Given the description of an element on the screen output the (x, y) to click on. 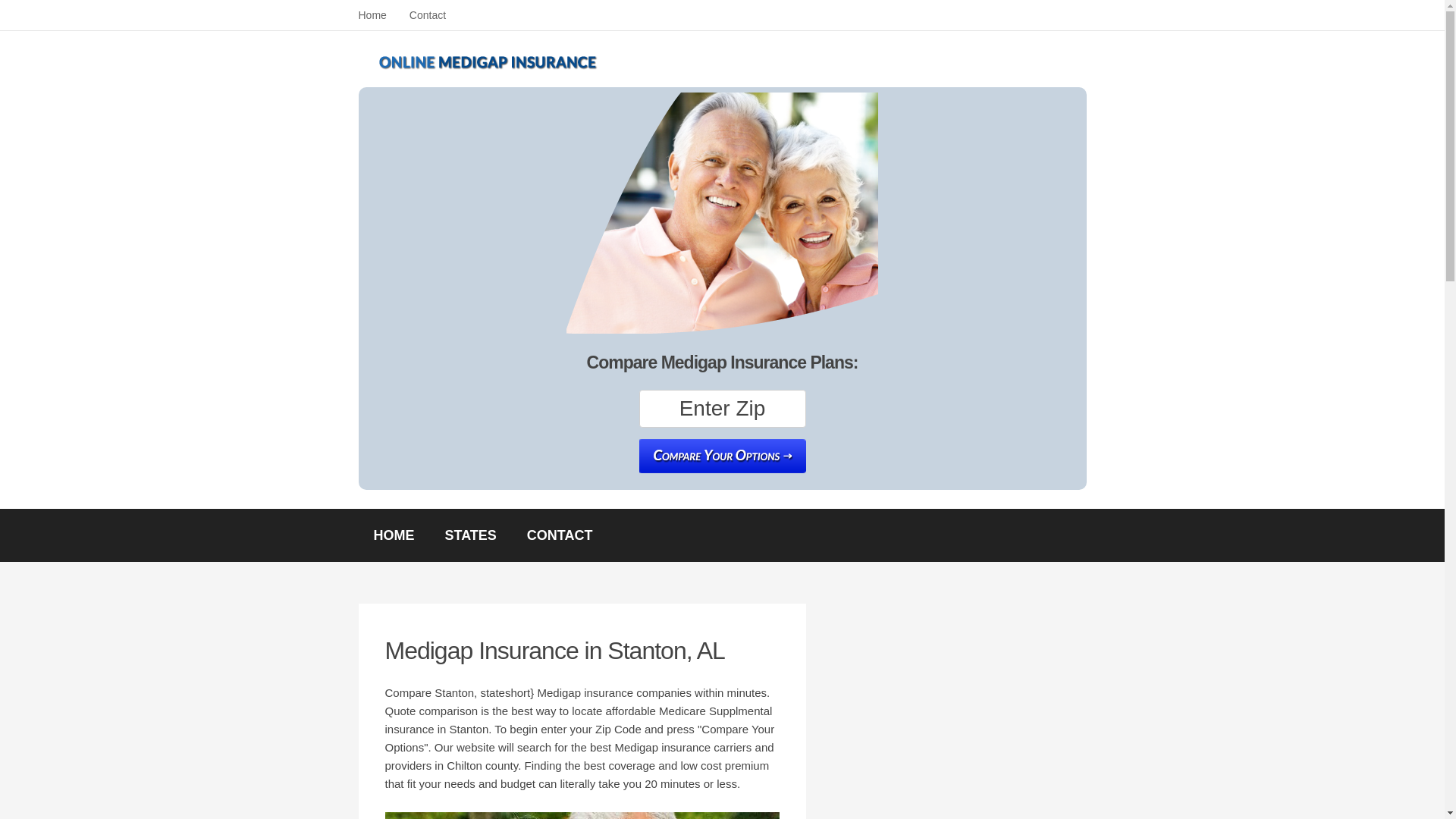
Contact (427, 15)
Enter Zip (722, 408)
STATES (470, 534)
Home (371, 15)
CONTACT (560, 534)
HOME (393, 534)
